Given the description of an element on the screen output the (x, y) to click on. 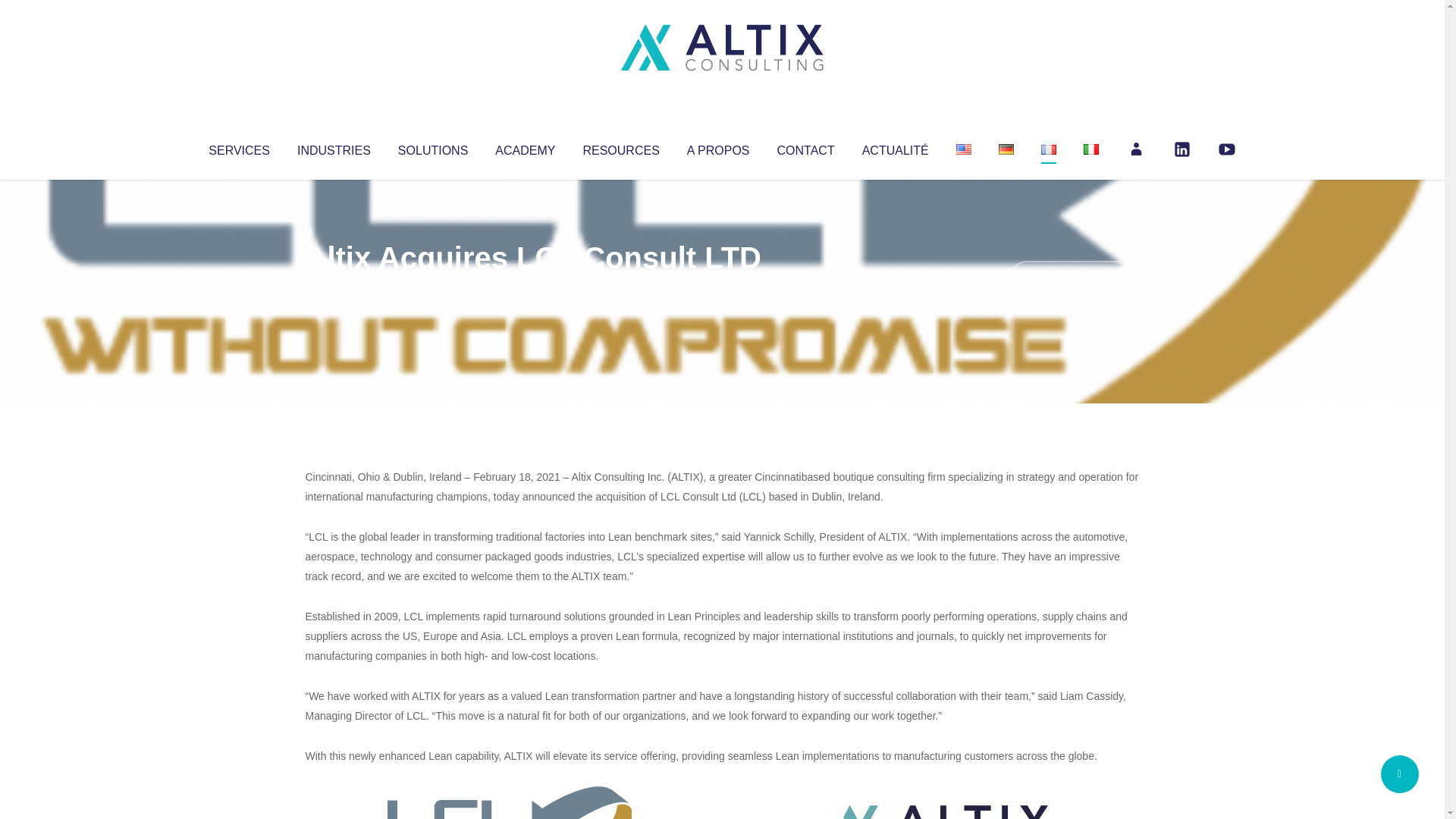
Altix (333, 287)
Uncategorized (530, 287)
Articles par Altix (333, 287)
ACADEMY (524, 146)
A PROPOS (718, 146)
SOLUTIONS (432, 146)
INDUSTRIES (334, 146)
No Comments (1073, 278)
SERVICES (238, 146)
RESOURCES (620, 146)
